Given the description of an element on the screen output the (x, y) to click on. 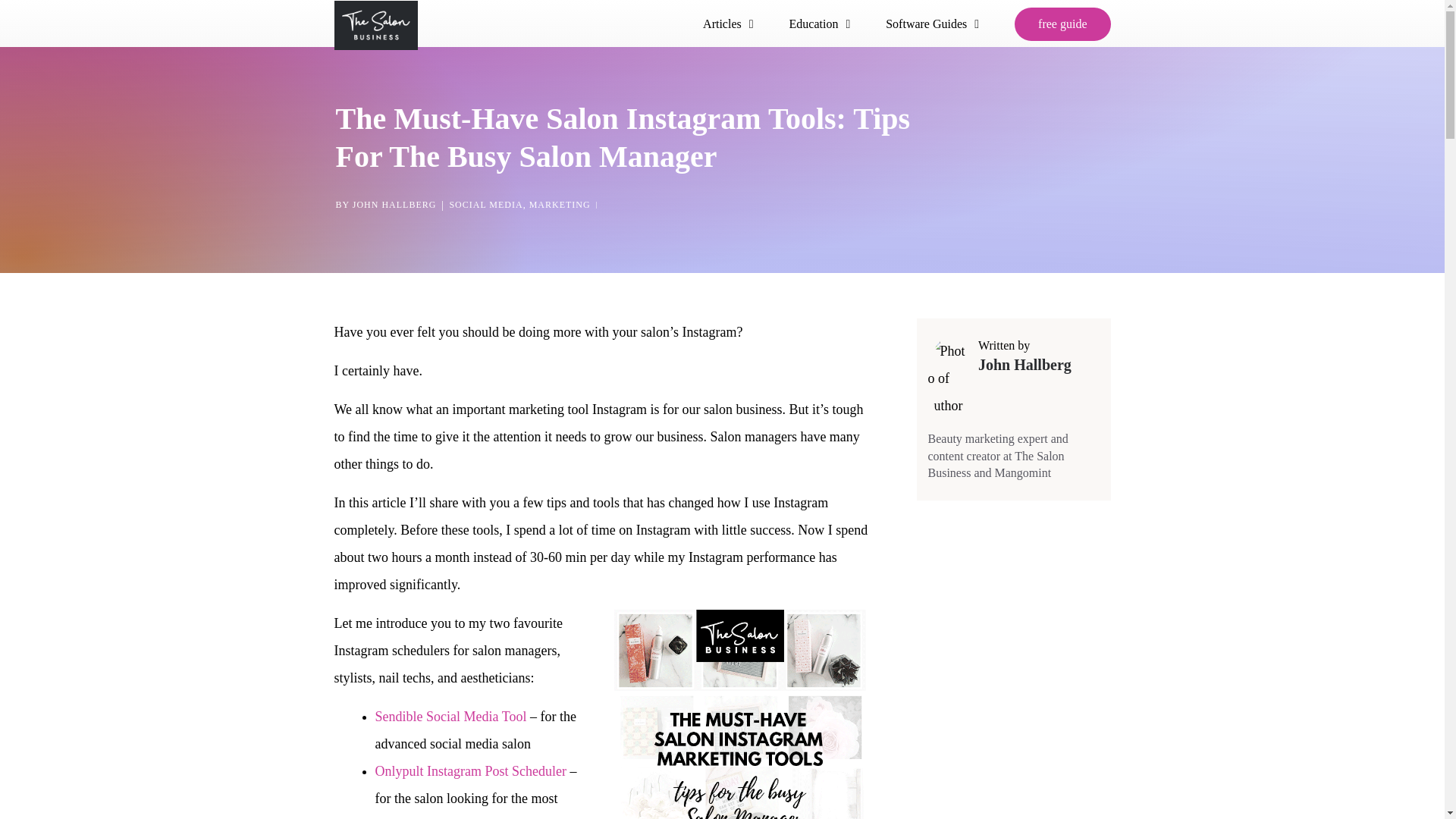
Articles (730, 23)
TheSalonBusiness.com (374, 28)
View all posts by John Hallberg (394, 204)
